Given the description of an element on the screen output the (x, y) to click on. 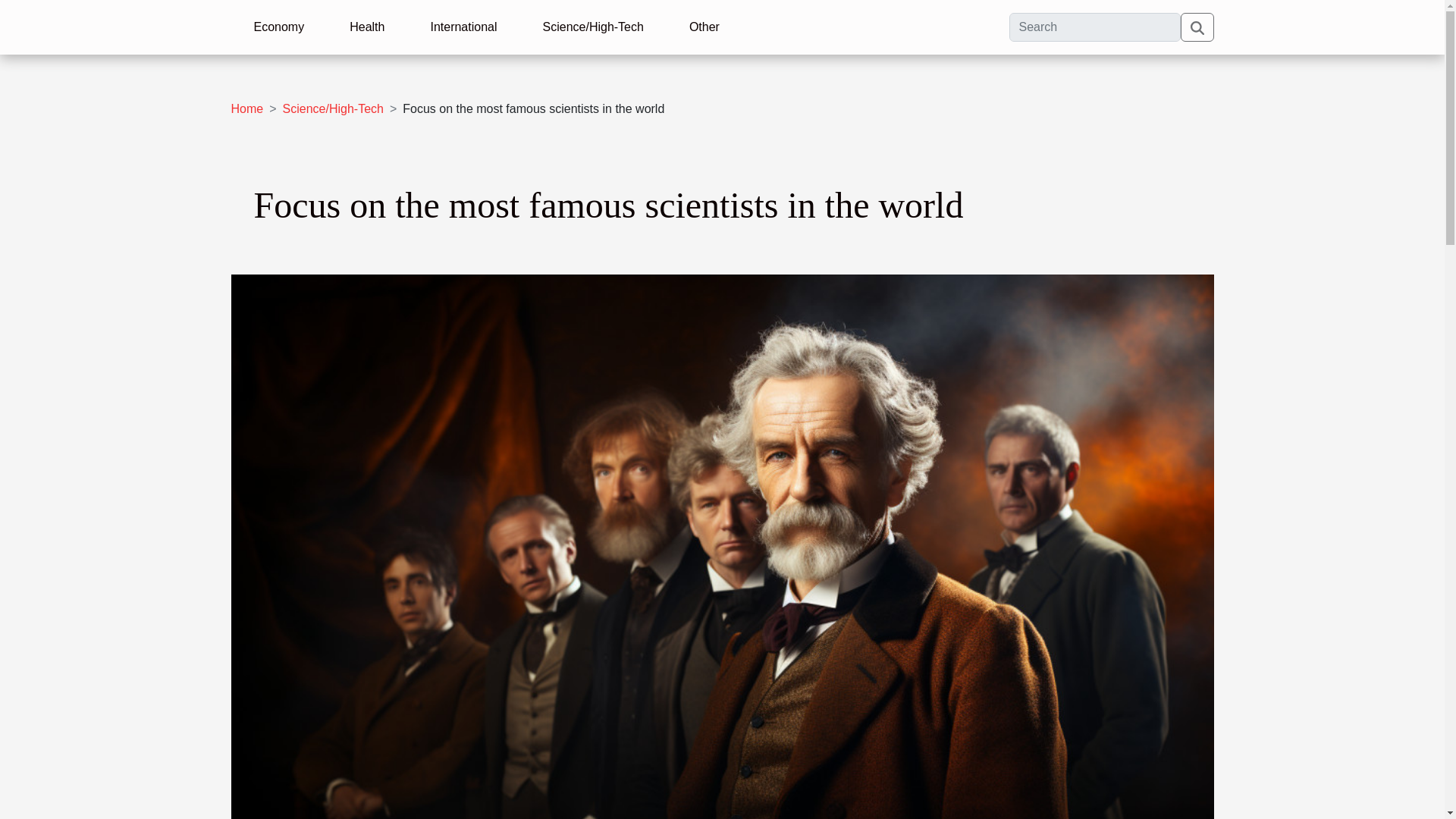
International (462, 27)
Other (703, 27)
Health (366, 27)
Economy (278, 27)
Home (246, 108)
